Given the description of an element on the screen output the (x, y) to click on. 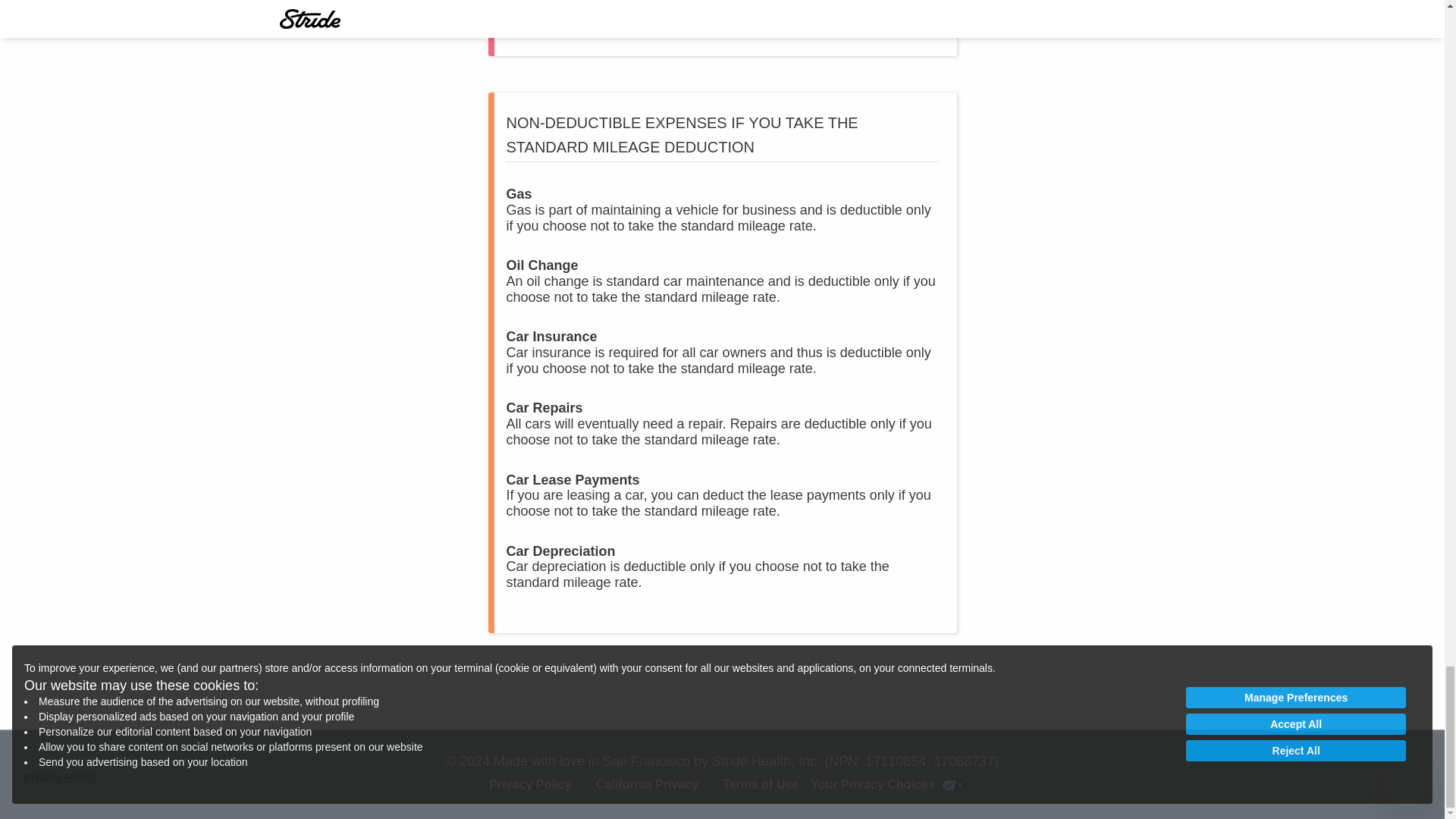
California Privacy (646, 784)
Privacy Policy (530, 784)
Terms of Use (759, 784)
